Given the description of an element on the screen output the (x, y) to click on. 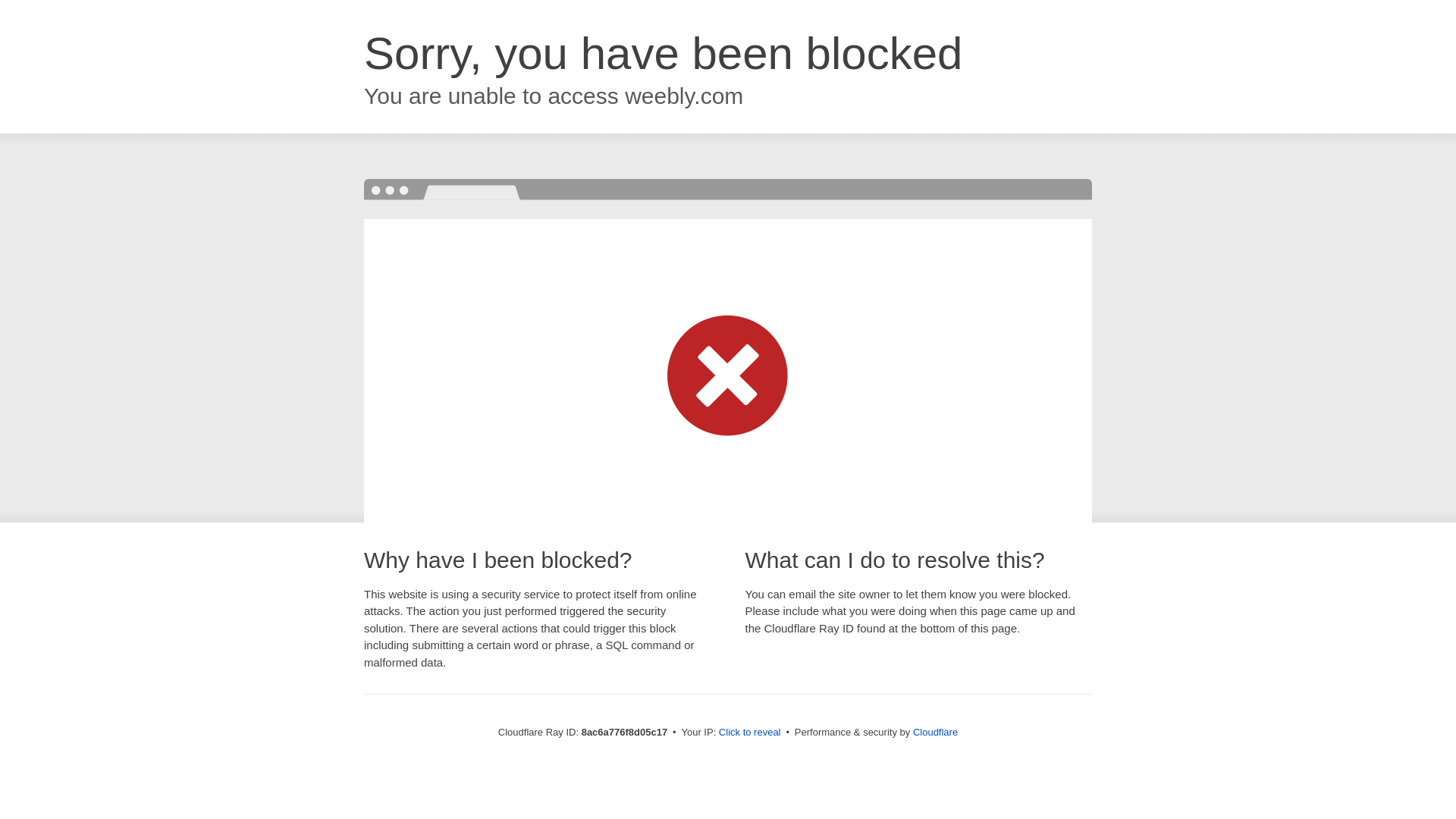
Click to reveal (749, 732)
Cloudflare (935, 731)
